Given the description of an element on the screen output the (x, y) to click on. 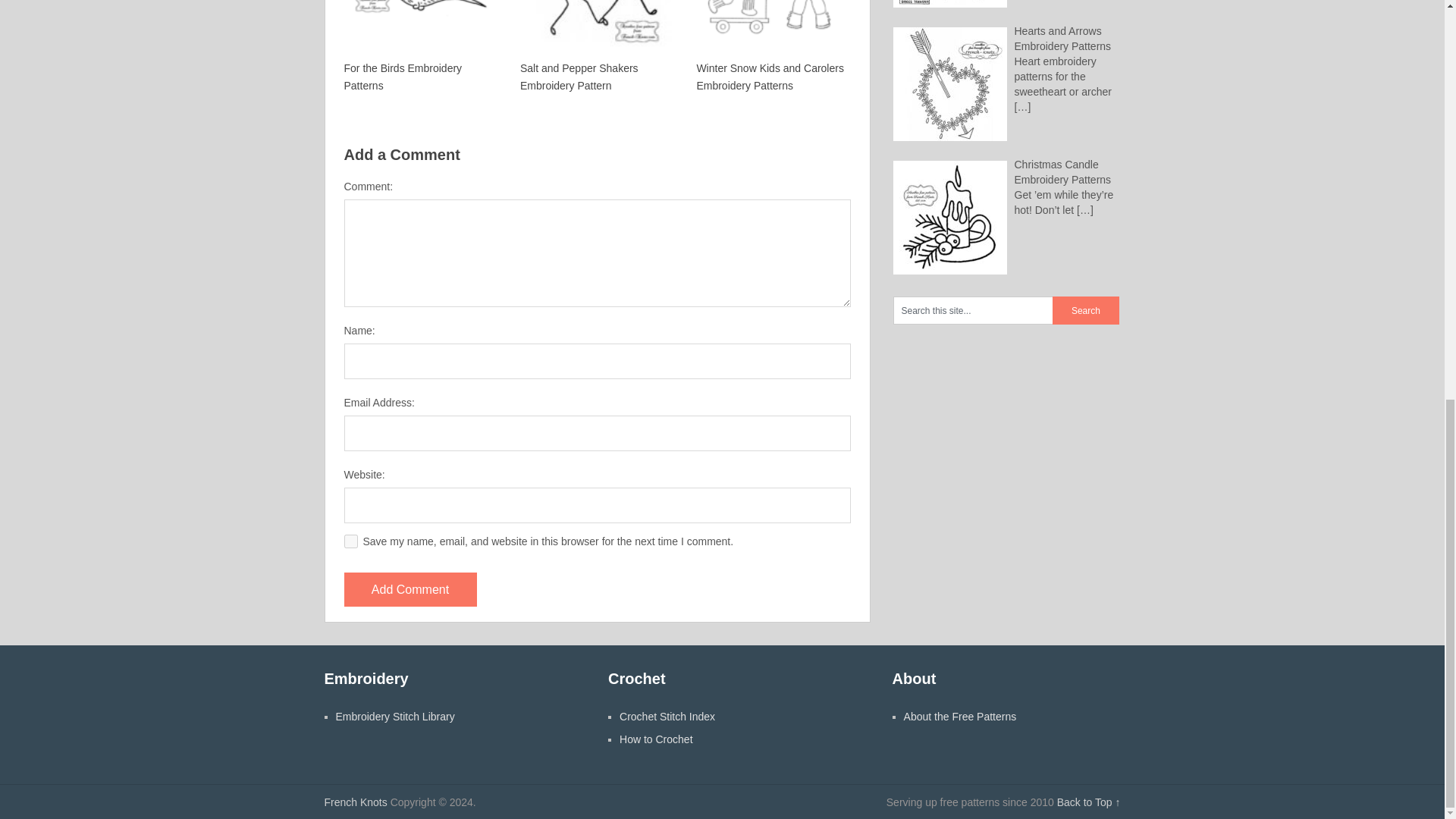
Hearts and Arrows Embroidery Patterns (1063, 38)
Instructions on how to crochet (656, 739)
Christmas Candle Embroidery Patterns (1063, 171)
Add Comment (410, 589)
Search (1085, 310)
How to embroider a variety of stitches (394, 716)
Instruction on various crochet stitches (667, 716)
Salt and Pepper Shakers Embroidery Pattern (595, 47)
Winter Snow Kids and Carolers Embroidery Patterns (771, 47)
Salt and Pepper Shakers Embroidery Pattern (595, 47)
